Given the description of an element on the screen output the (x, y) to click on. 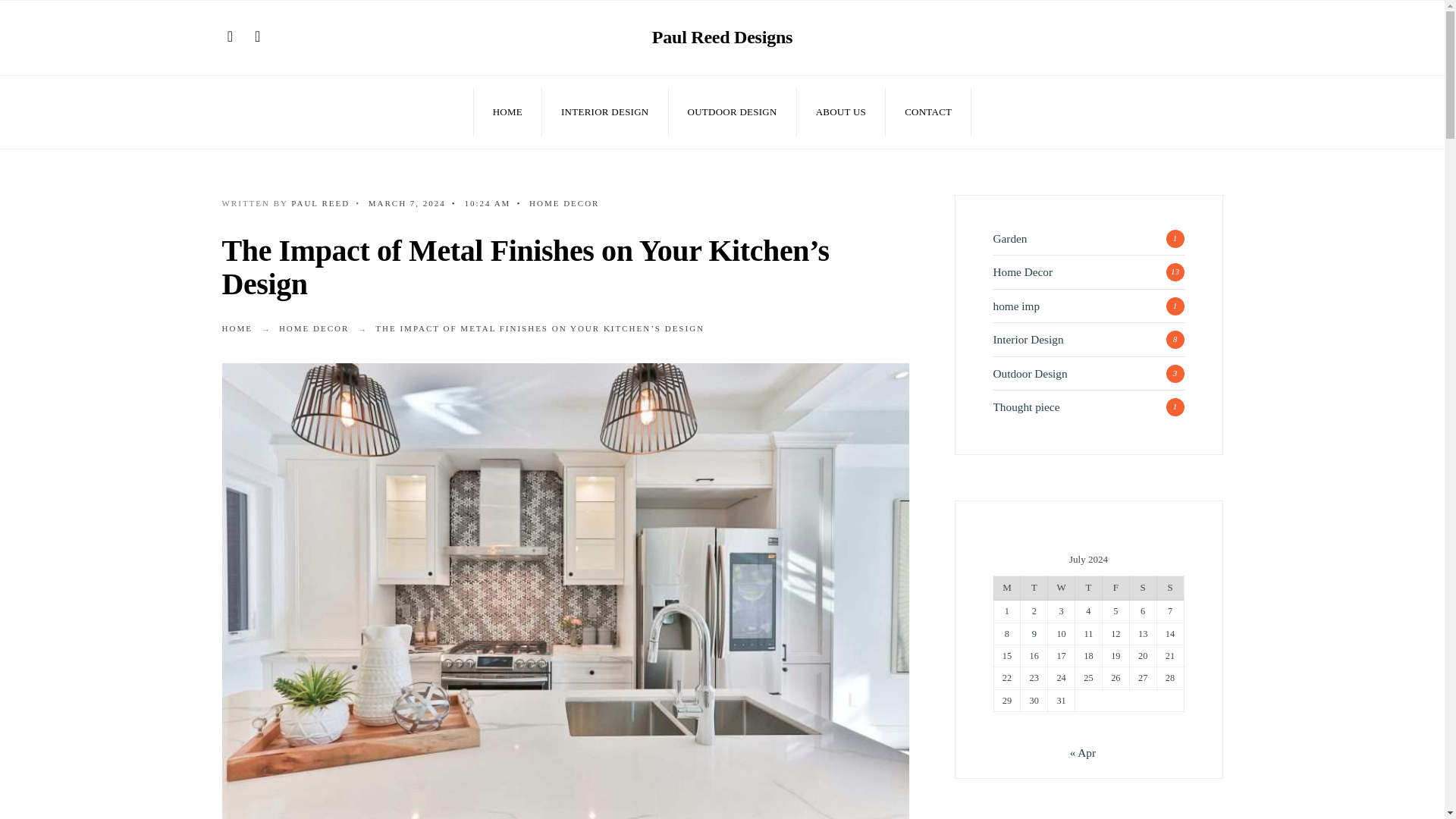
CONTACT (927, 111)
Paul Reed Designs (722, 36)
INTERIOR DESIGN (604, 111)
HOME (507, 111)
ABOUT US (841, 111)
Posts by Paul Reed (320, 203)
HOME (236, 327)
PAUL REED (320, 203)
OUTDOOR DESIGN (732, 111)
HOME DECOR (563, 203)
HOME DECOR (314, 327)
